Given the description of an element on the screen output the (x, y) to click on. 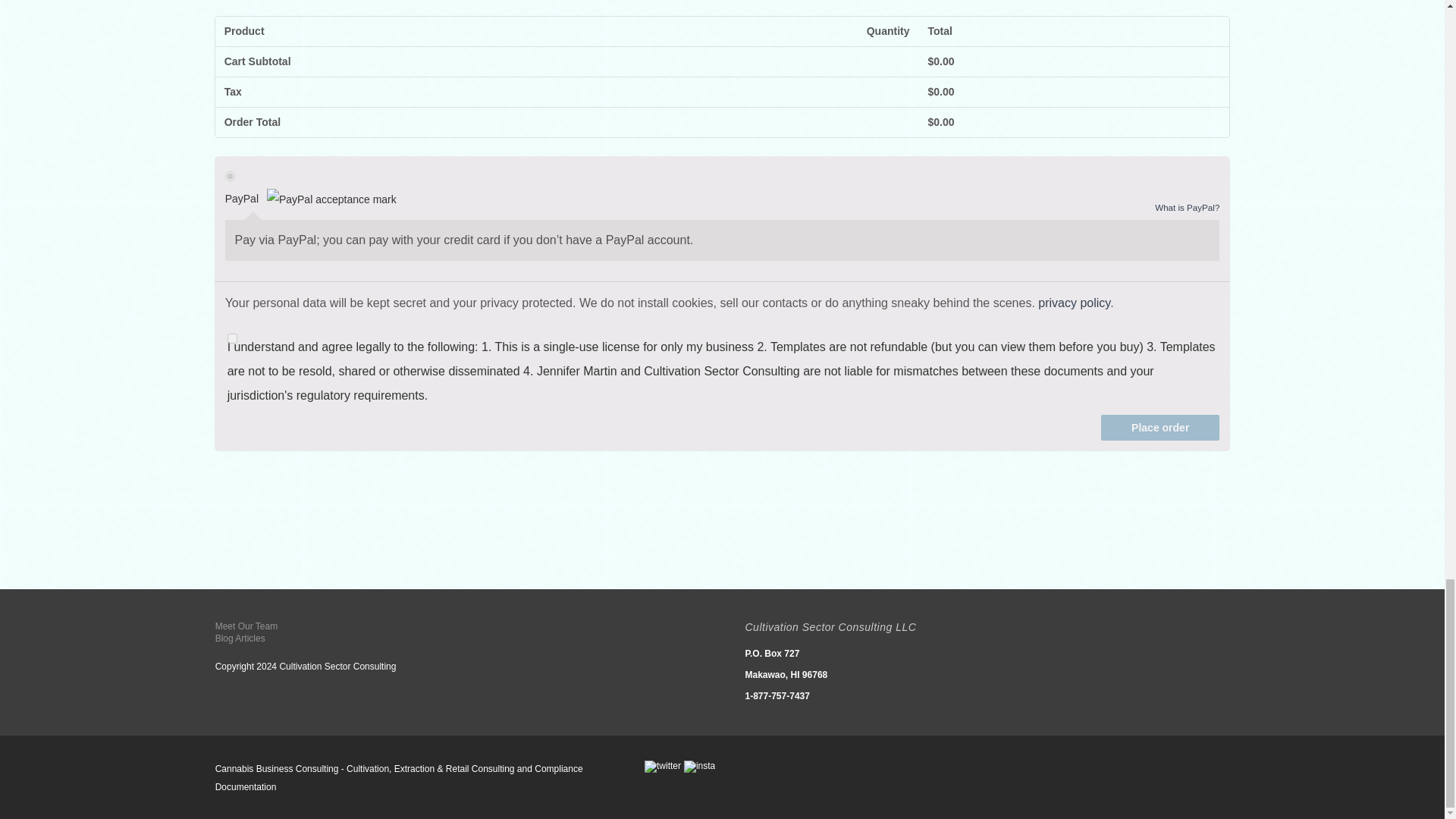
Twitter (663, 766)
insta (699, 766)
on (232, 338)
paypal (229, 175)
